Given the description of an element on the screen output the (x, y) to click on. 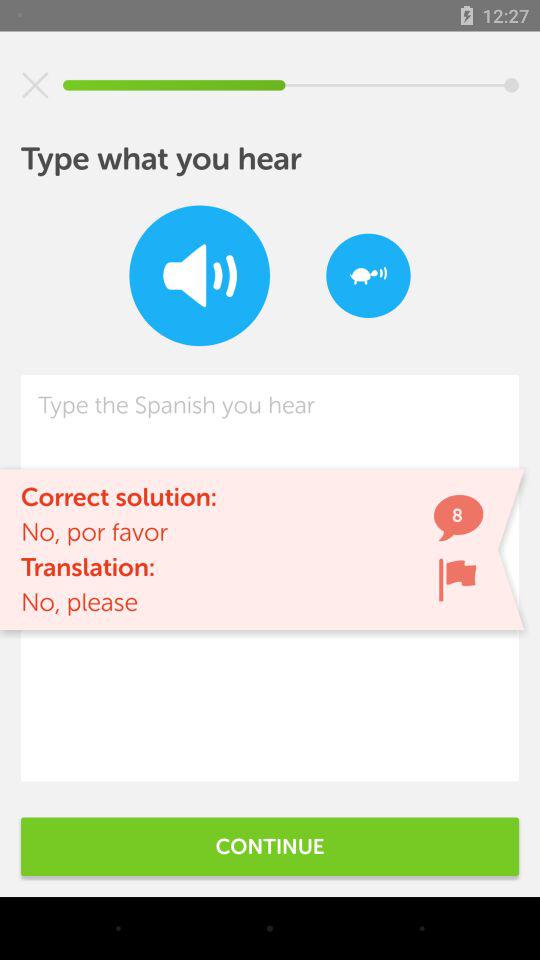
type your answer (270, 578)
